Given the description of an element on the screen output the (x, y) to click on. 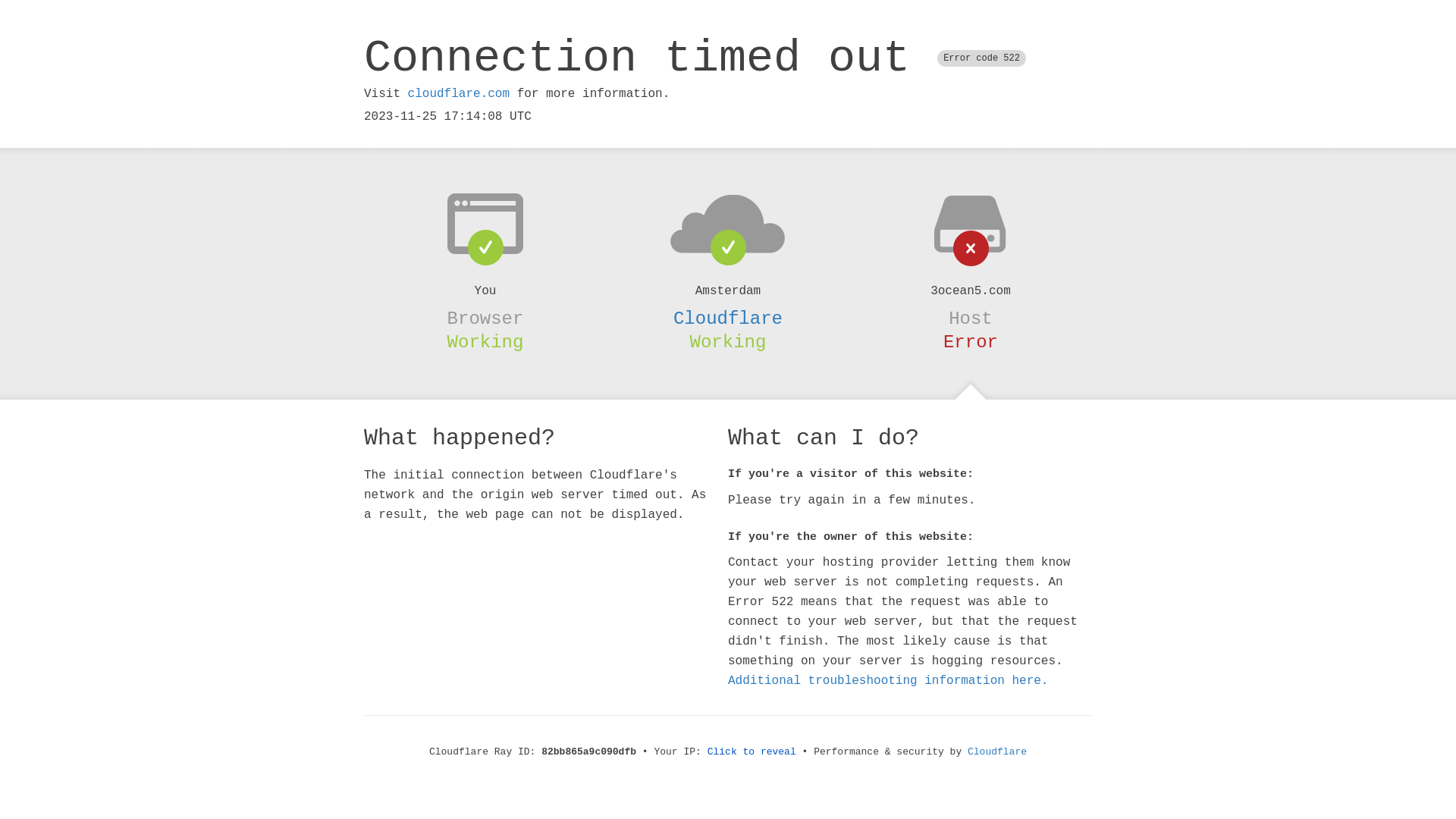
Additional troubleshooting information here. Element type: text (888, 680)
Cloudflare Element type: text (727, 318)
Cloudflare Element type: text (996, 751)
cloudflare.com Element type: text (458, 93)
Click to reveal Element type: text (751, 751)
